Given the description of an element on the screen output the (x, y) to click on. 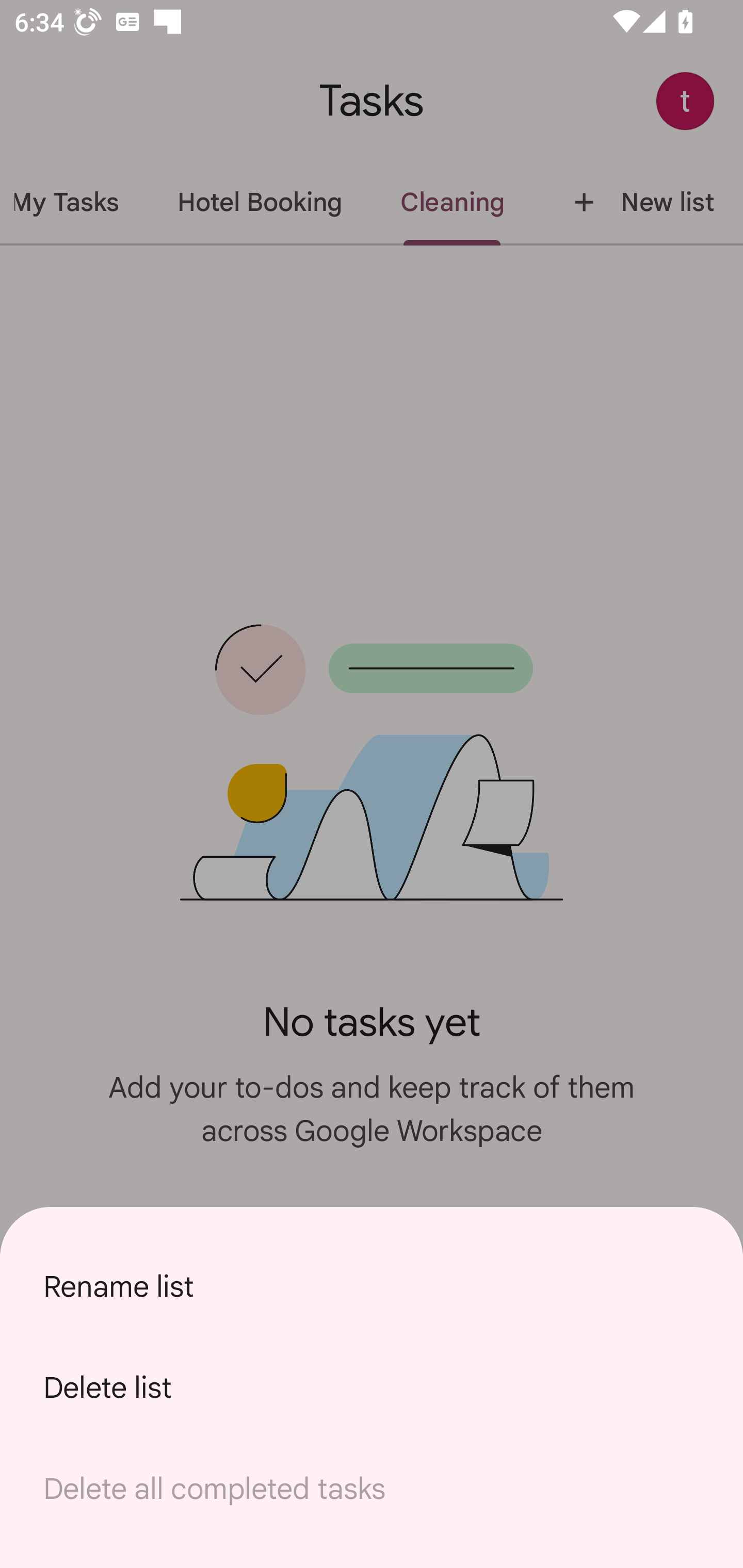
Rename list (371, 1286)
Delete list (371, 1387)
Delete all completed tasks (371, 1488)
